Given the description of an element on the screen output the (x, y) to click on. 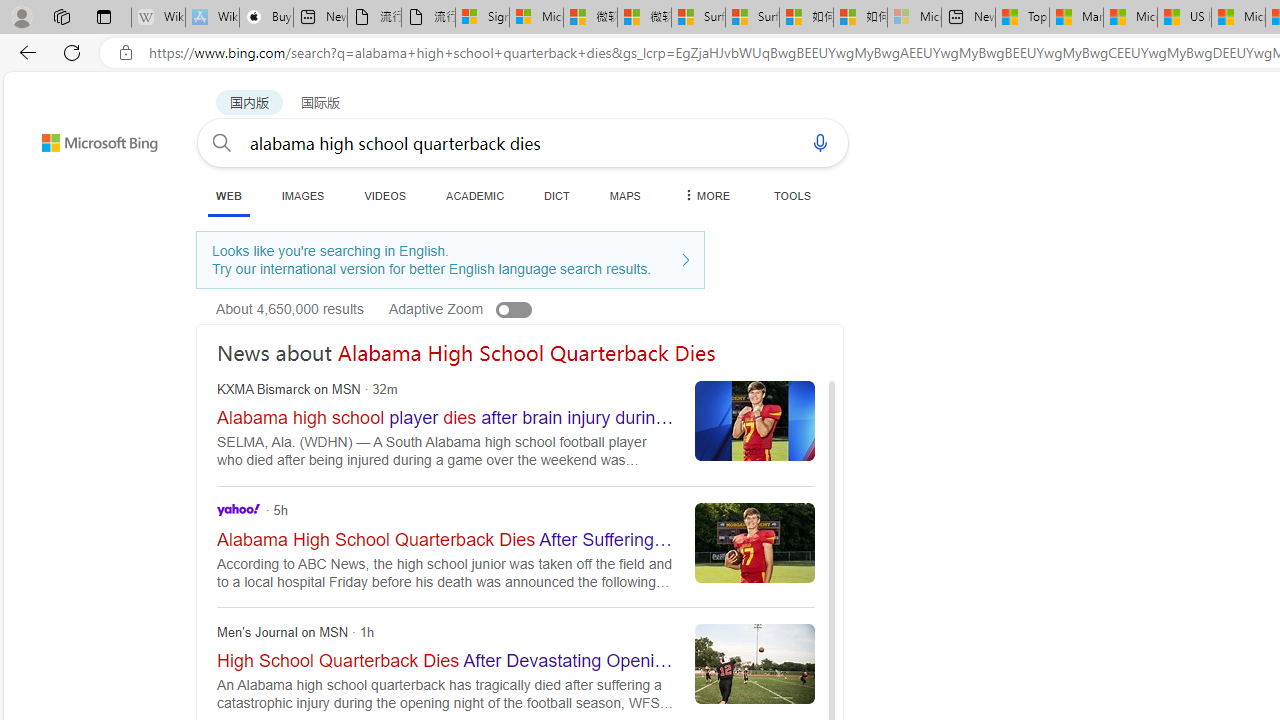
Search using voice (820, 142)
MAPS (624, 195)
MAPS (624, 195)
TOOLS (792, 195)
ACADEMIC (475, 195)
Yahoo (238, 509)
US Heat Deaths Soared To Record High Last Year (1184, 17)
